Given the description of an element on the screen output the (x, y) to click on. 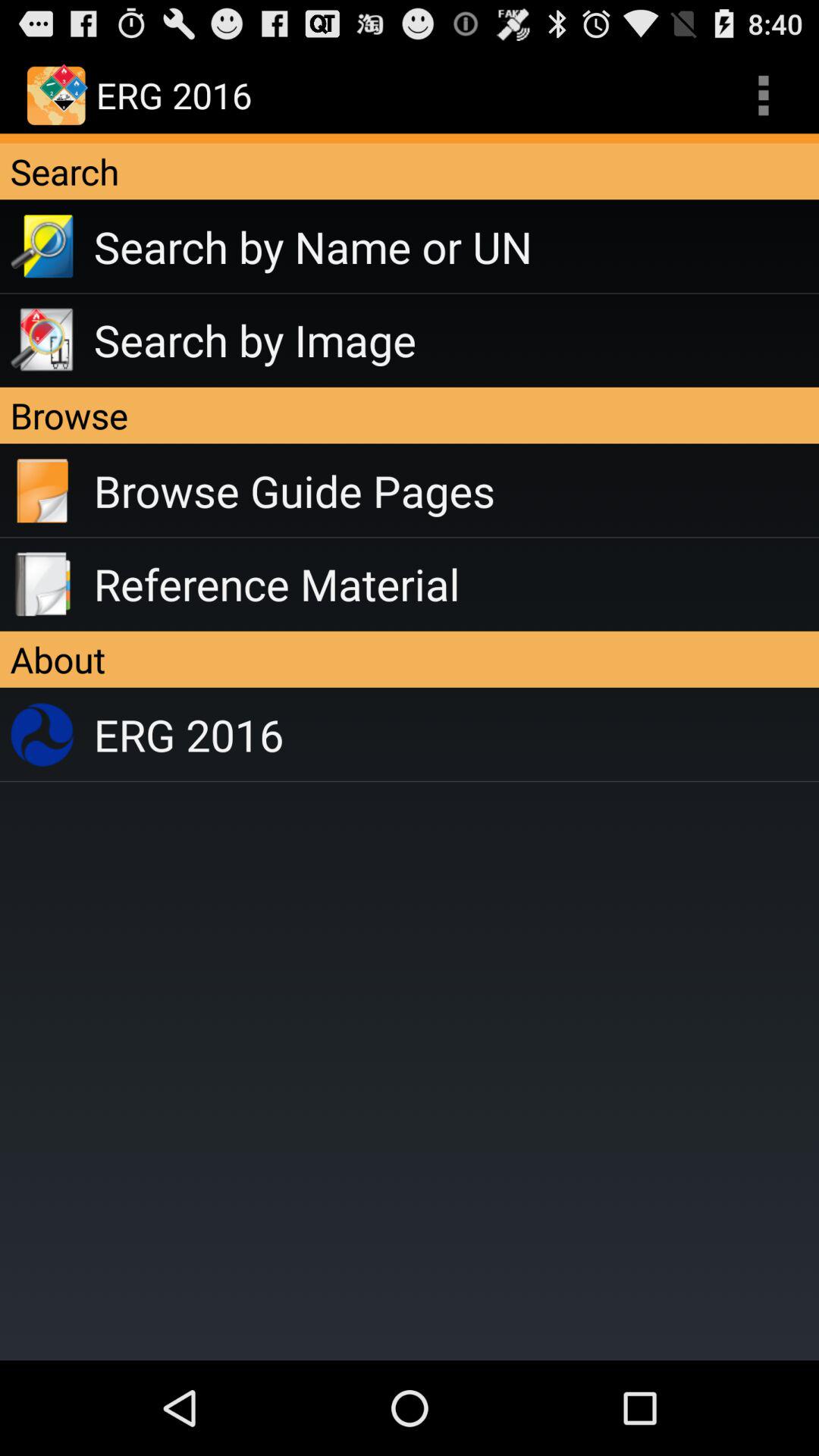
open the icon below browse guide pages app (456, 584)
